Given the description of an element on the screen output the (x, y) to click on. 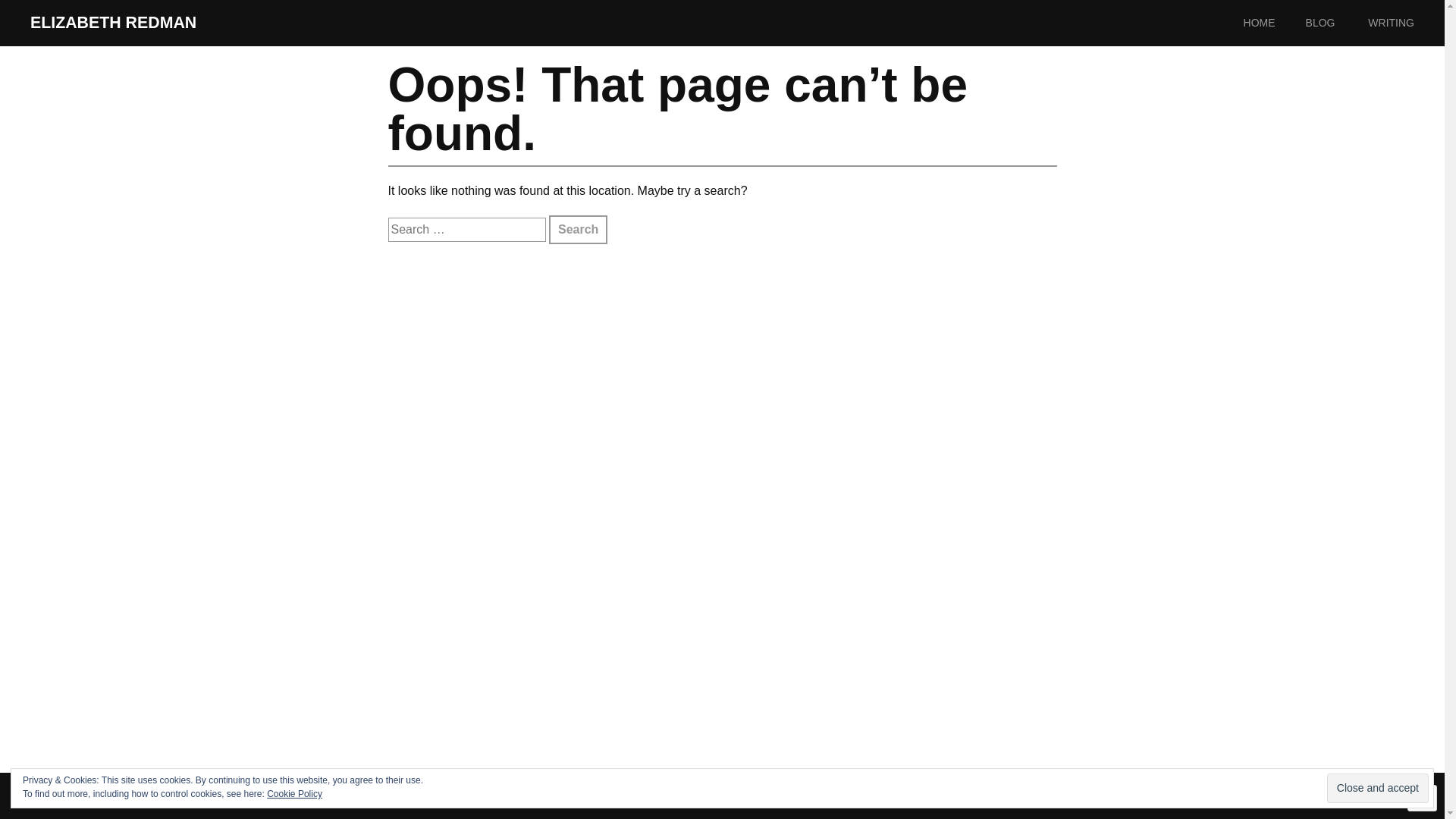
Cookie Policy Element type: text (294, 793)
HOME Element type: text (1274, 23)
Search Element type: text (578, 229)
BLOG Element type: text (1335, 23)
ELIZABETH REDMAN Element type: text (113, 22)
Close and accept Element type: text (1377, 788)
Create a free website or blog at WordPress.com. Element type: text (1299, 795)
WRITING Element type: text (1406, 23)
